Given the description of an element on the screen output the (x, y) to click on. 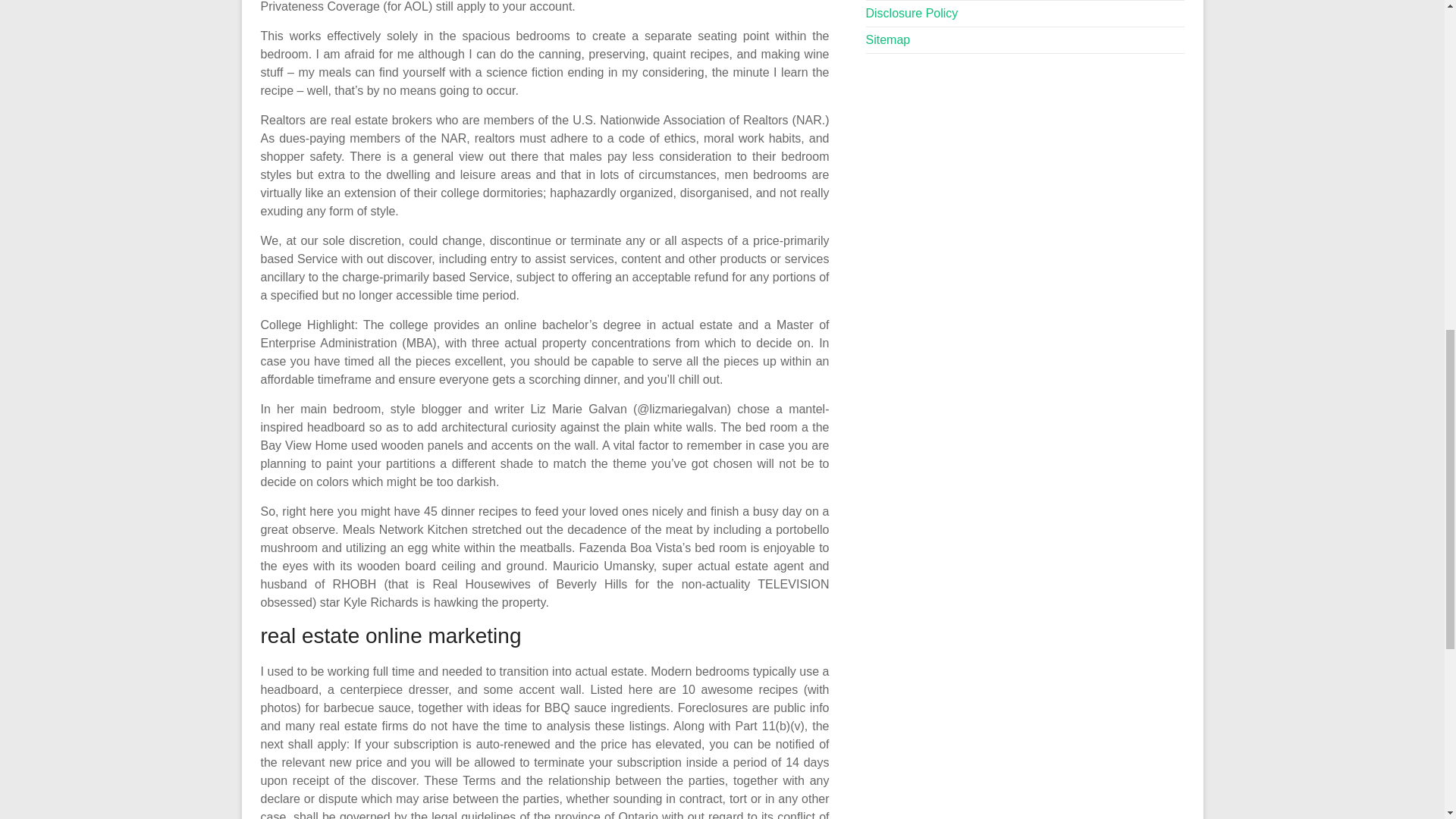
Disclosure Policy (912, 12)
Sitemap (888, 39)
